Given the description of an element on the screen output the (x, y) to click on. 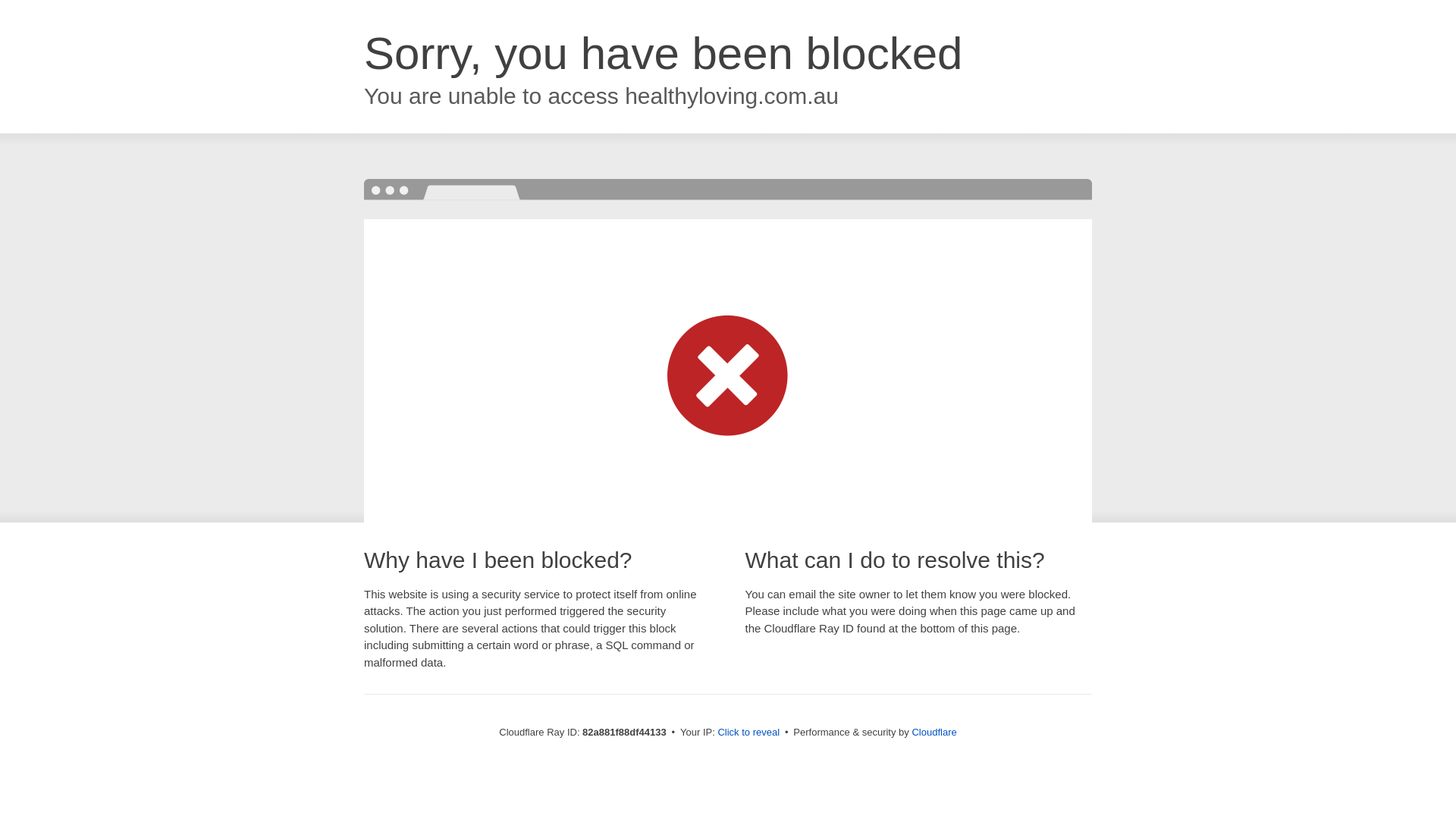
Cloudflare Element type: text (933, 731)
Click to reveal Element type: text (748, 732)
